Given the description of an element on the screen output the (x, y) to click on. 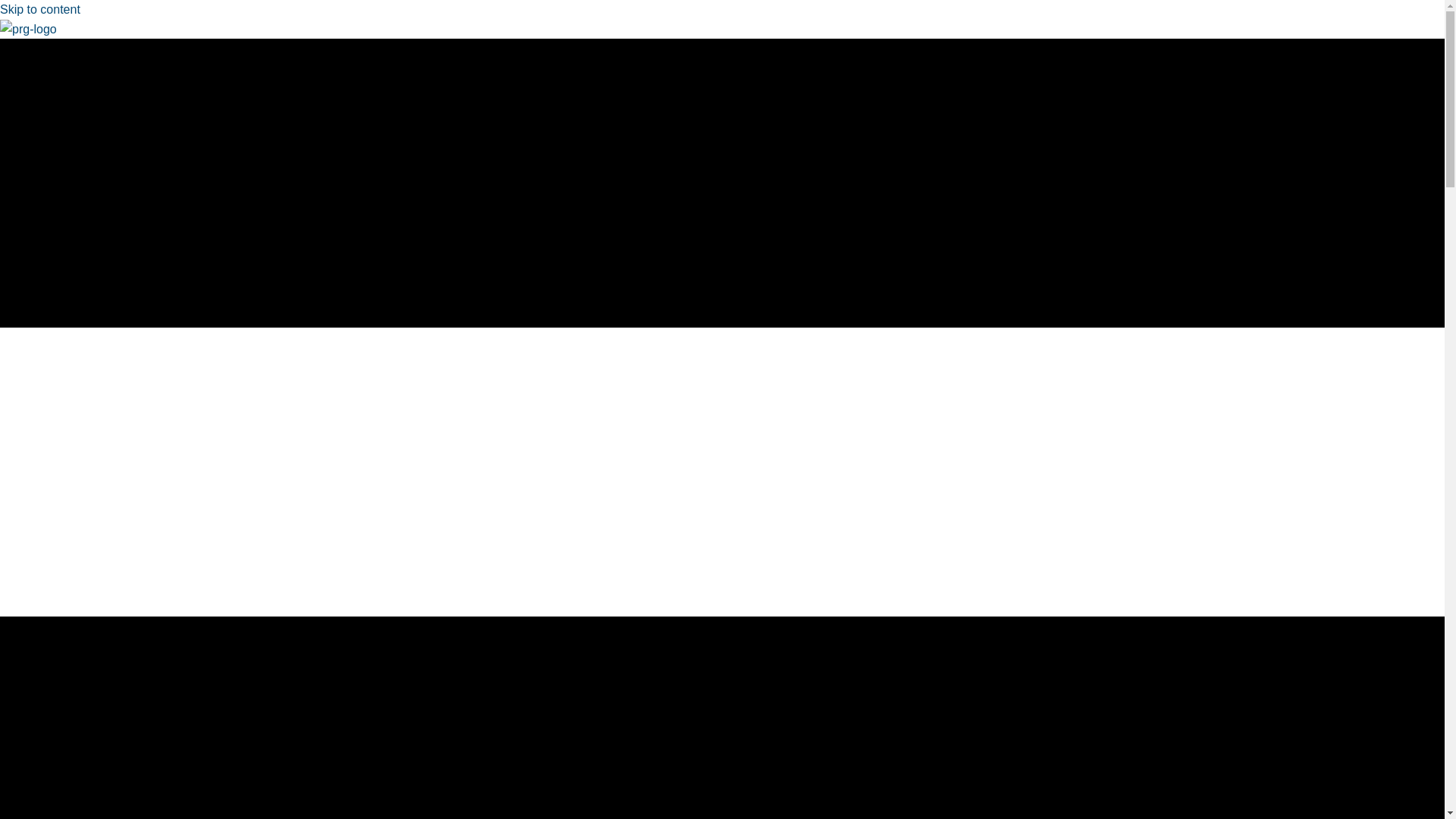
Skip to content (40, 9)
Skip to content (40, 9)
prg-logo (28, 29)
